Given the description of an element on the screen output the (x, y) to click on. 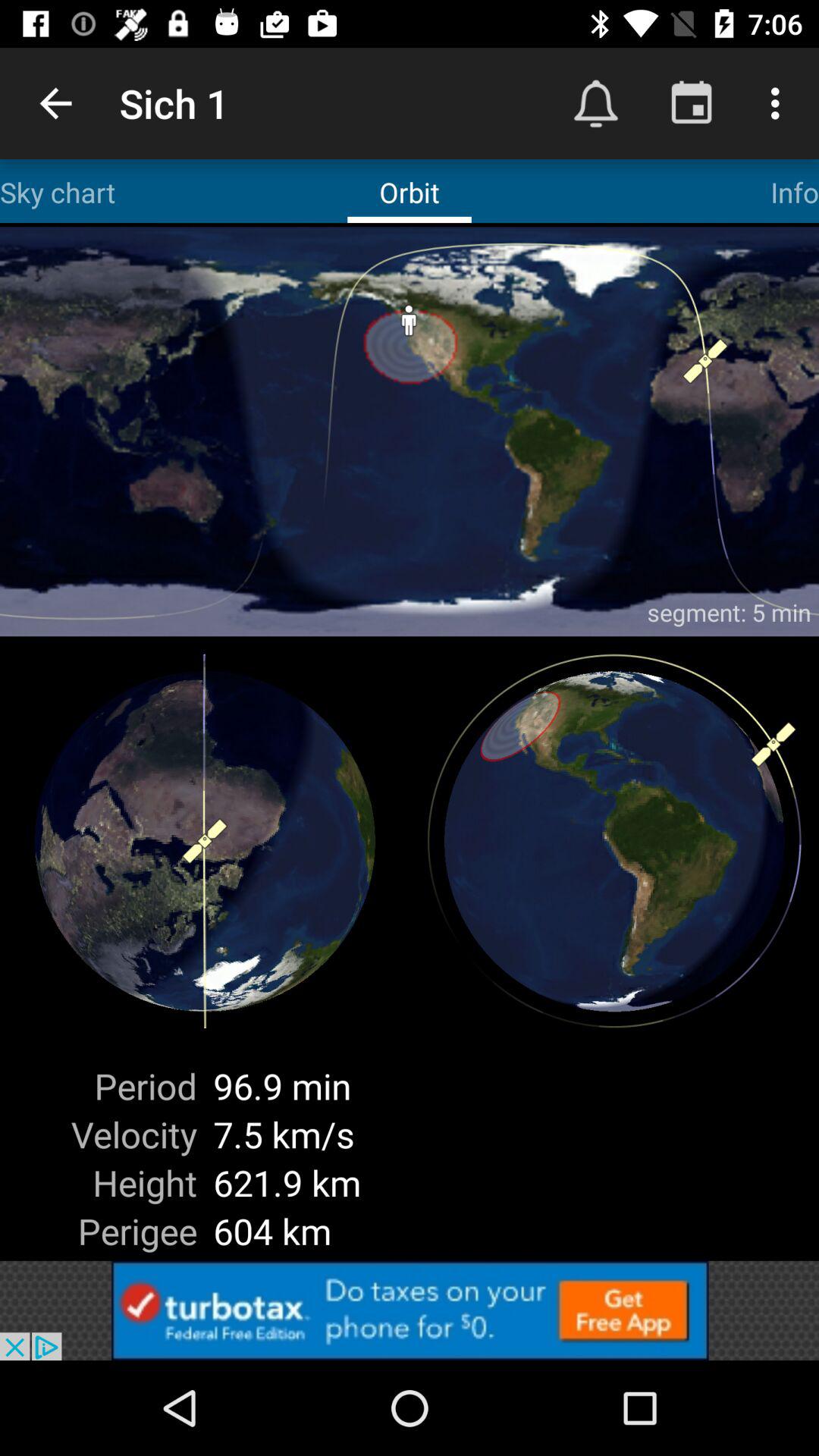
install application (409, 1310)
